Given the description of an element on the screen output the (x, y) to click on. 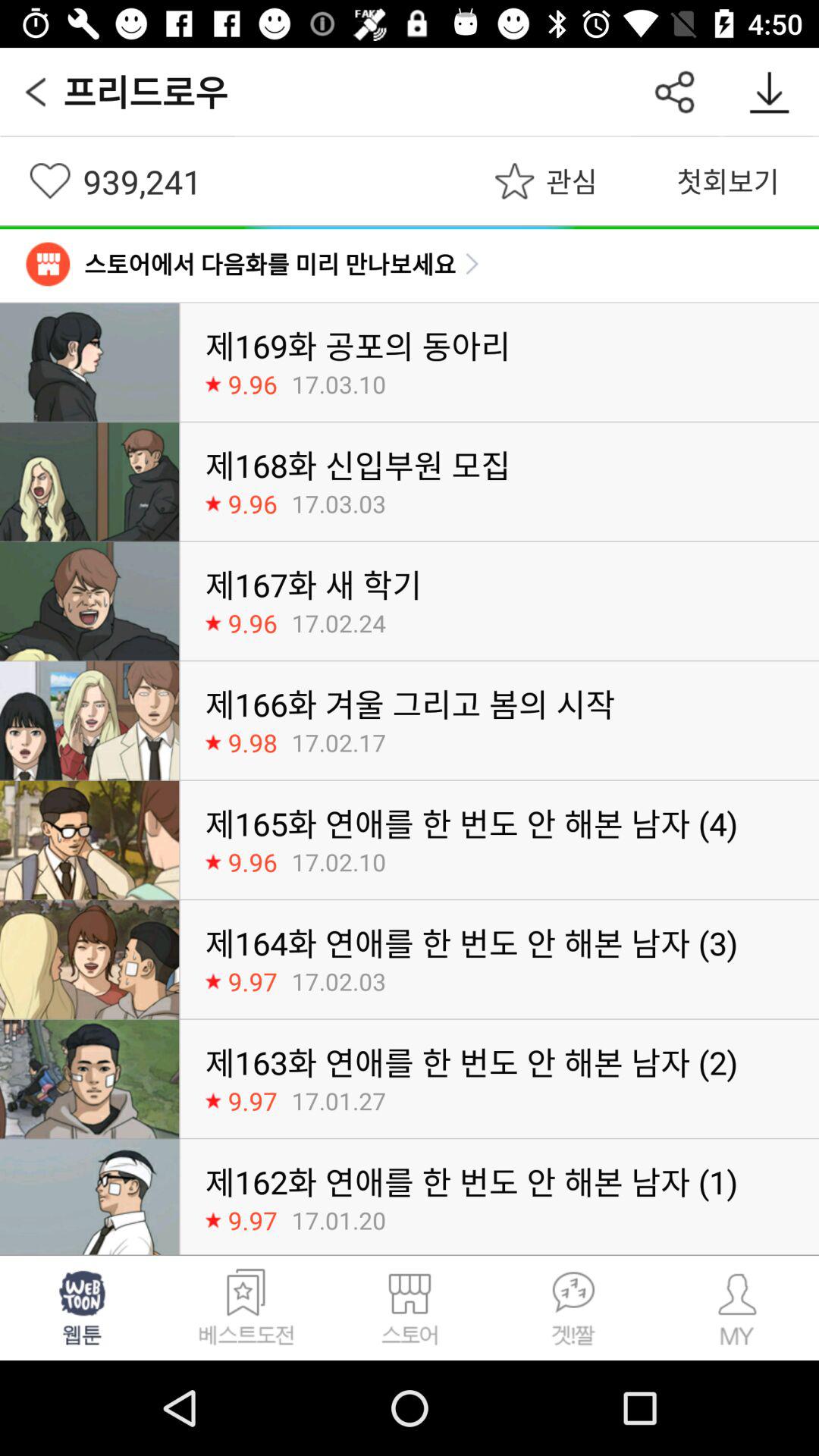
tap the my profile icon at the right bottom of the page (737, 1307)
go to the download icon at the extreme top right corner of the page (768, 92)
click on the right arrow mark (472, 263)
click on the star option near the fifth image (213, 861)
click on the bookmark option in the bottom (245, 1307)
